Given the description of an element on the screen output the (x, y) to click on. 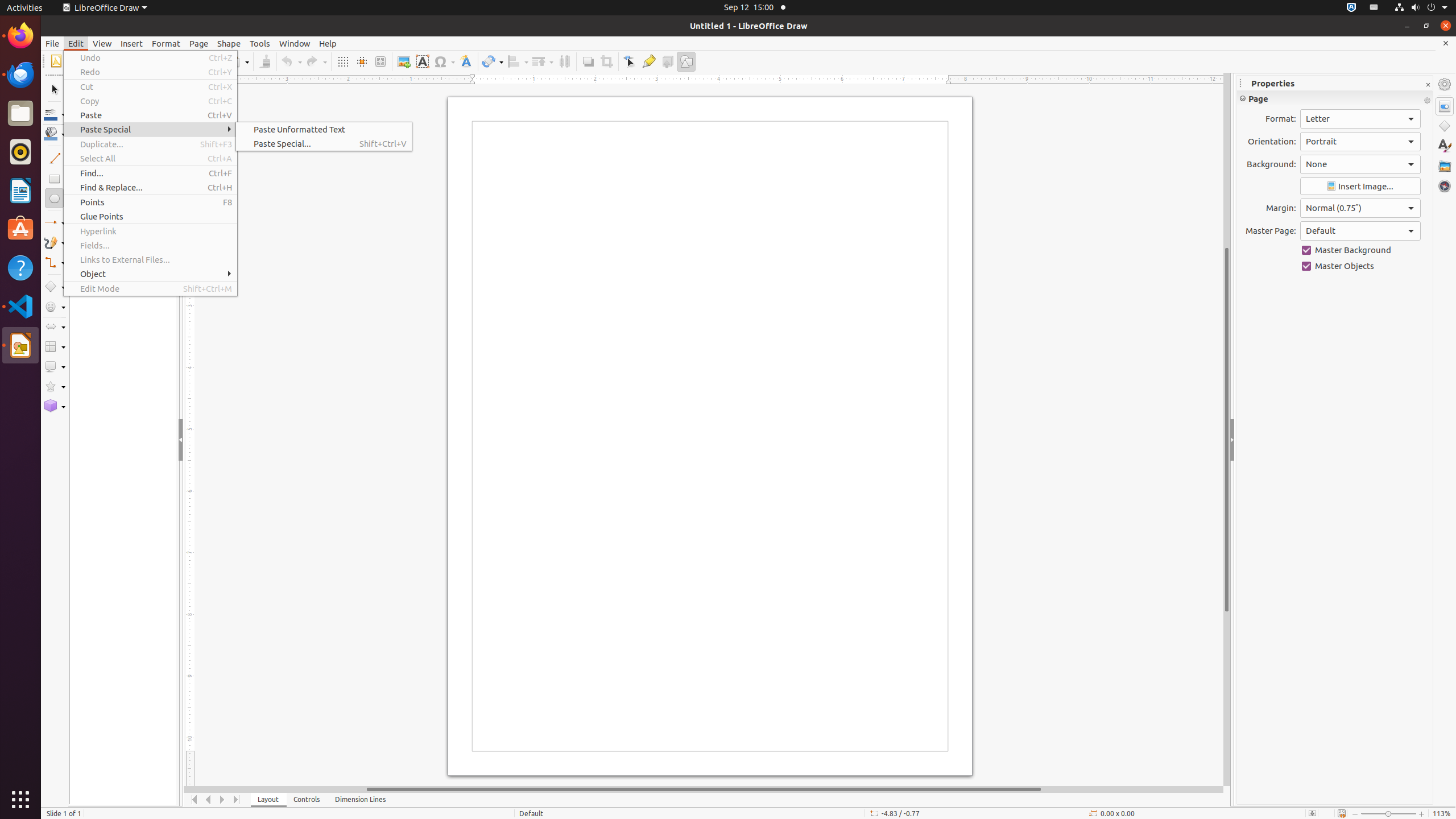
View Element type: menu (102, 43)
Copy Element type: menu-item (150, 100)
Window Element type: menu (294, 43)
Find & Replace... Element type: menu-item (150, 187)
Properties Element type: radio-button (1444, 106)
